Given the description of an element on the screen output the (x, y) to click on. 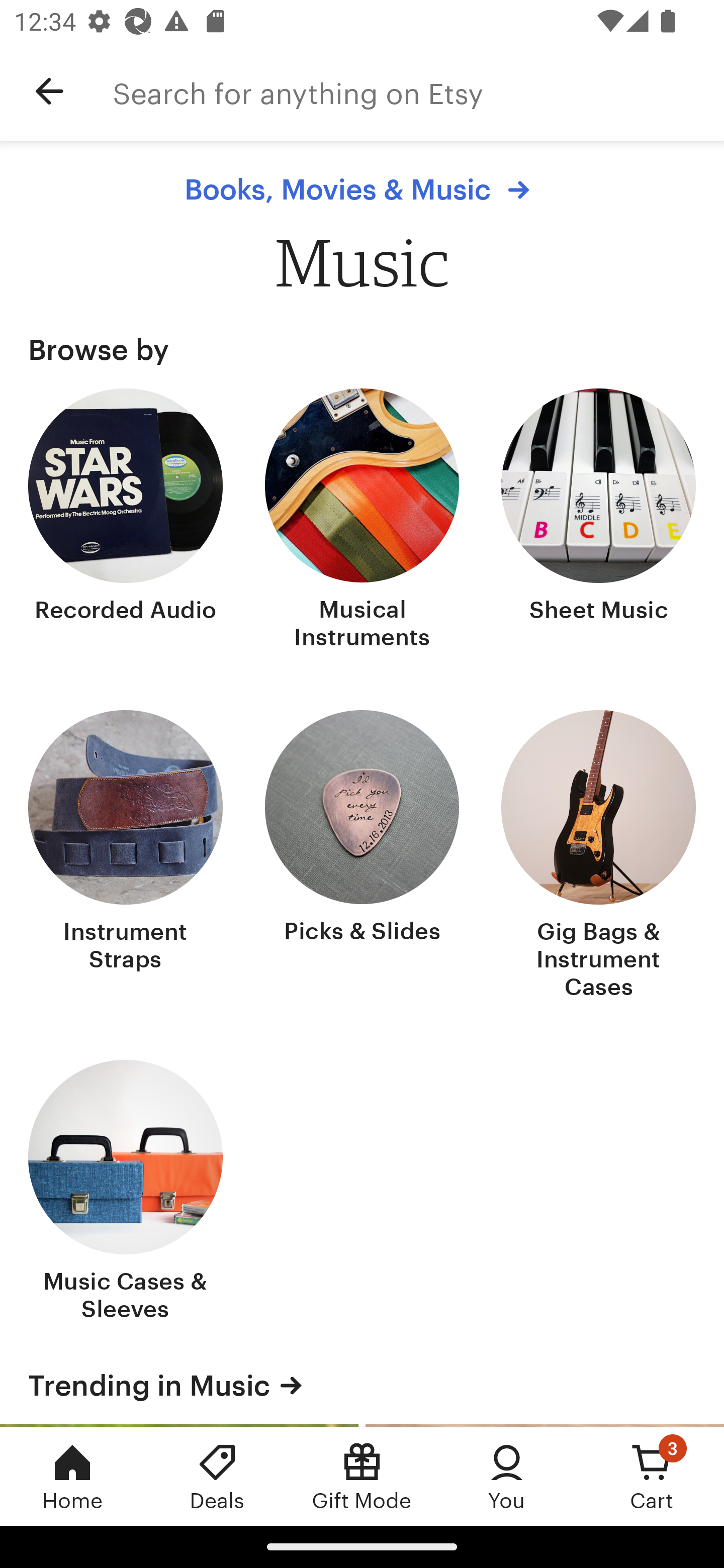
Navigate up (49, 91)
Search for anything on Etsy (418, 91)
Books, Movies & Music (361, 189)
Recorded Audio (125, 520)
Musical Instruments (361, 520)
Sheet Music (598, 520)
Instrument Straps (125, 856)
Picks & Slides (361, 856)
Gig Bags & Instrument Cases (598, 856)
Music Cases & Sleeves (125, 1192)
Trending in Music  (361, 1384)
Deals (216, 1475)
Gift Mode (361, 1475)
You (506, 1475)
Cart, 3 new notifications Cart (651, 1475)
